Given the description of an element on the screen output the (x, y) to click on. 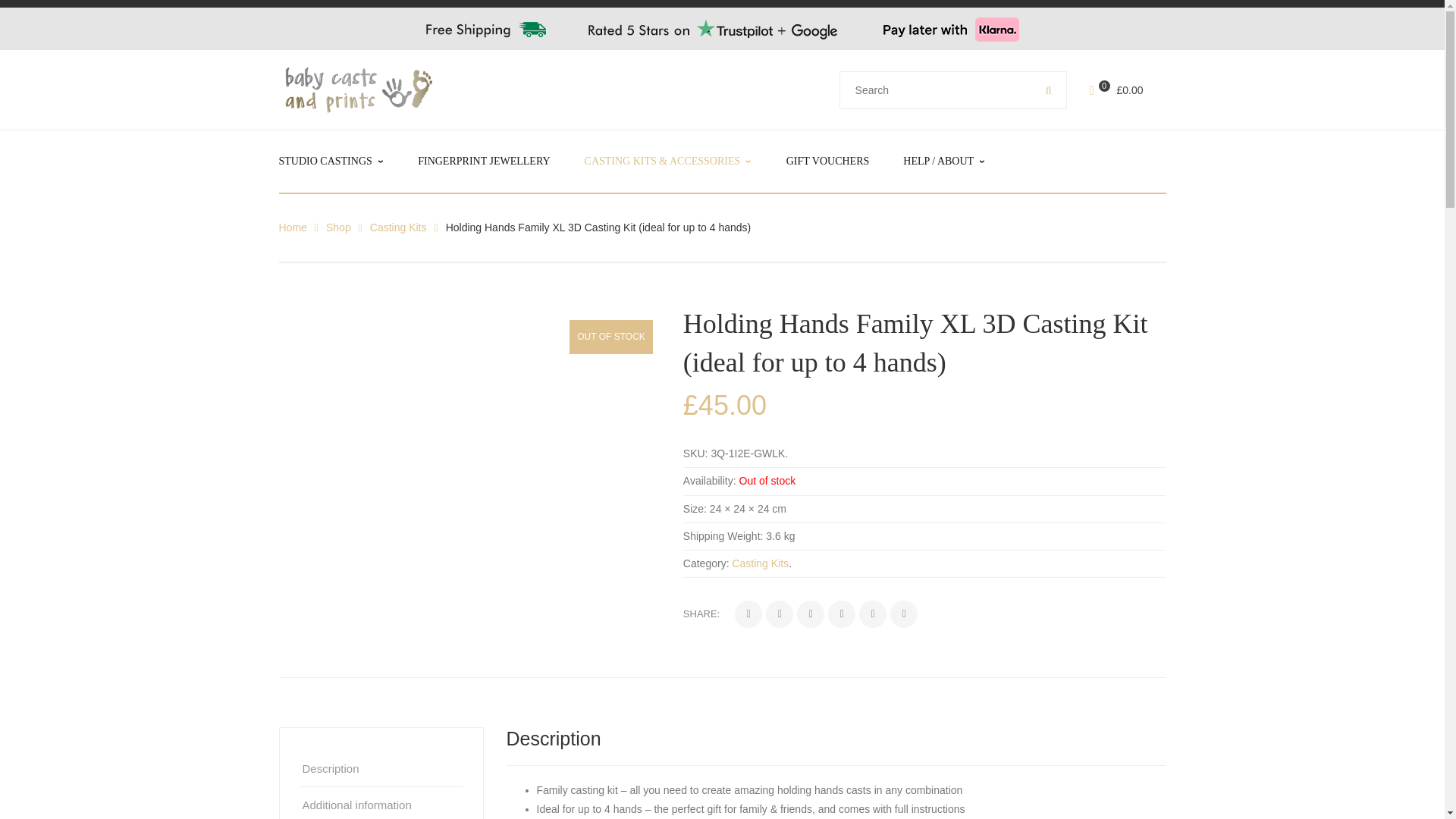
GIFT VOUCHERS (827, 161)
STUDIO CASTINGS (331, 161)
FINGERPRINT JEWELLERY (483, 161)
